Given the description of an element on the screen output the (x, y) to click on. 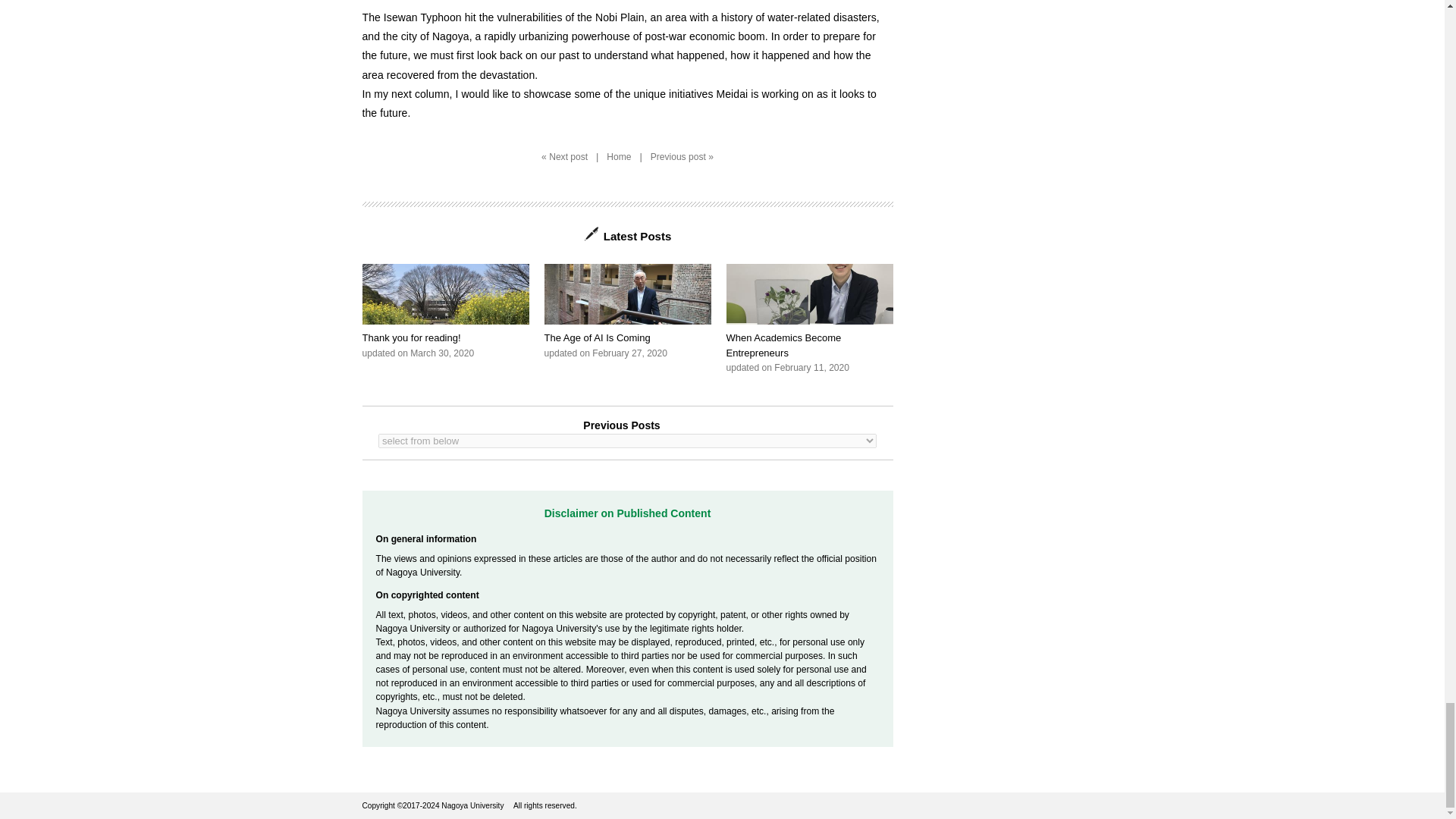
Home (627, 310)
